Given the description of an element on the screen output the (x, y) to click on. 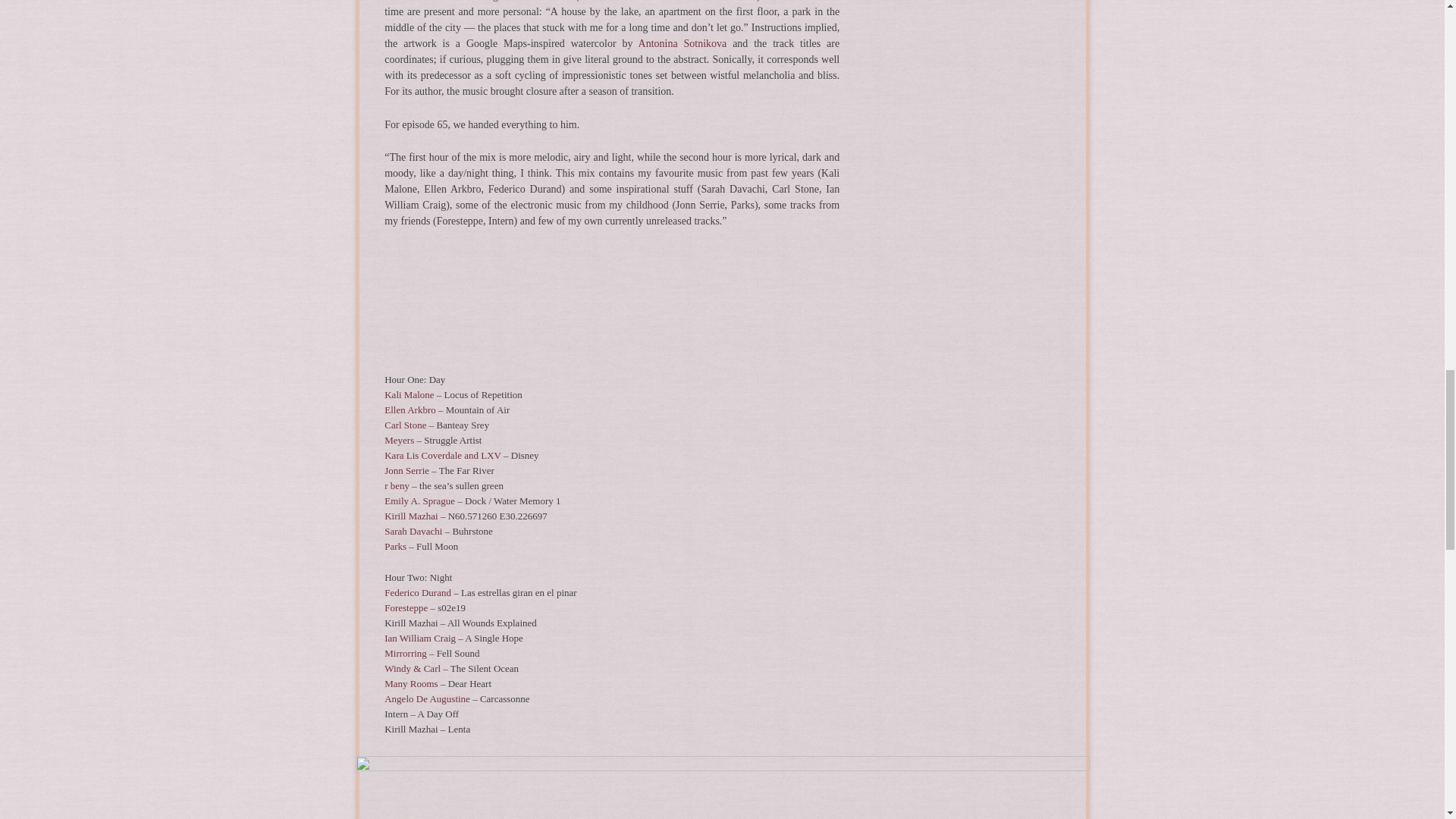
Many Rooms (411, 683)
Jonn Serrie (406, 470)
Emily A. Sprague (419, 500)
Antonina Sotnikova (682, 43)
Ellen Arkbro (409, 409)
Kara Lis Coverdale and LXV (442, 455)
Ian William Craig (419, 637)
Foresteppe (406, 607)
Carl Stone (405, 424)
Federico Durand (417, 592)
Parks (395, 546)
Mirrorring (405, 653)
Sarah Davachi (413, 531)
Kali Malone (408, 394)
r beny (396, 485)
